Given the description of an element on the screen output the (x, y) to click on. 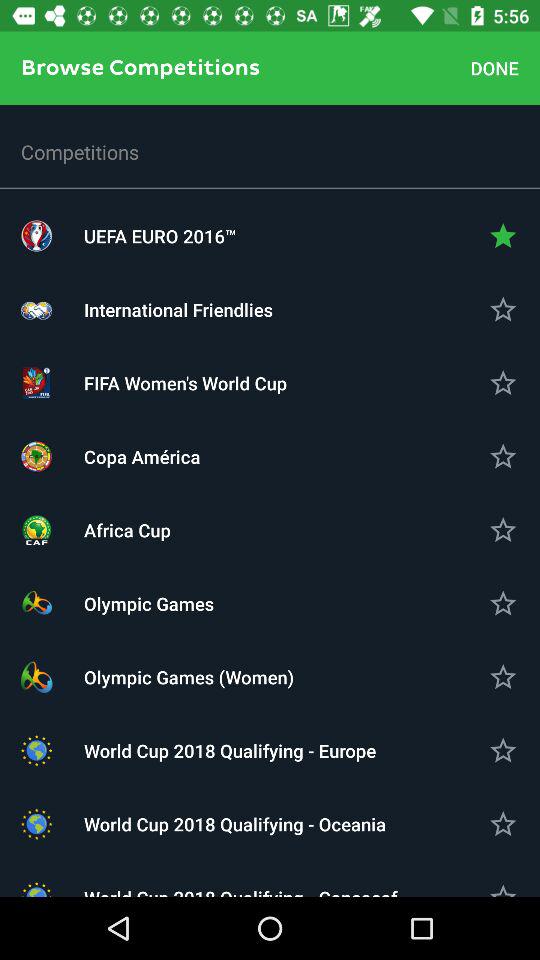
open africa cup item (270, 529)
